Given the description of an element on the screen output the (x, y) to click on. 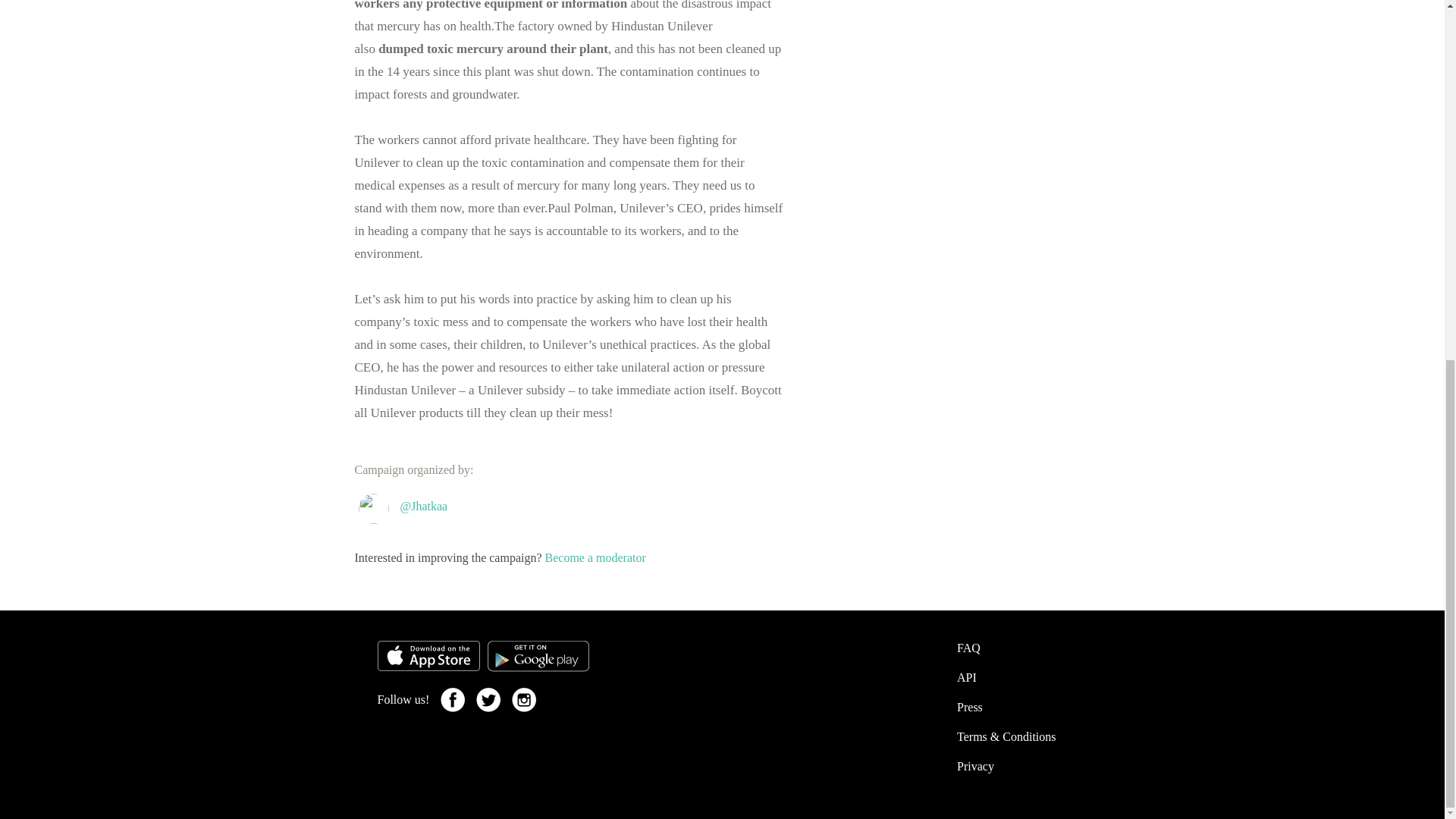
App Store (428, 655)
API (966, 676)
Facebook (452, 699)
Twitter (523, 699)
API (966, 676)
Press (969, 707)
FAQ (967, 647)
Twitter (488, 699)
Privacy (975, 766)
Become a moderator (595, 557)
FAQ (967, 647)
Privacy (975, 766)
Google Play (537, 655)
press (969, 707)
